Given the description of an element on the screen output the (x, y) to click on. 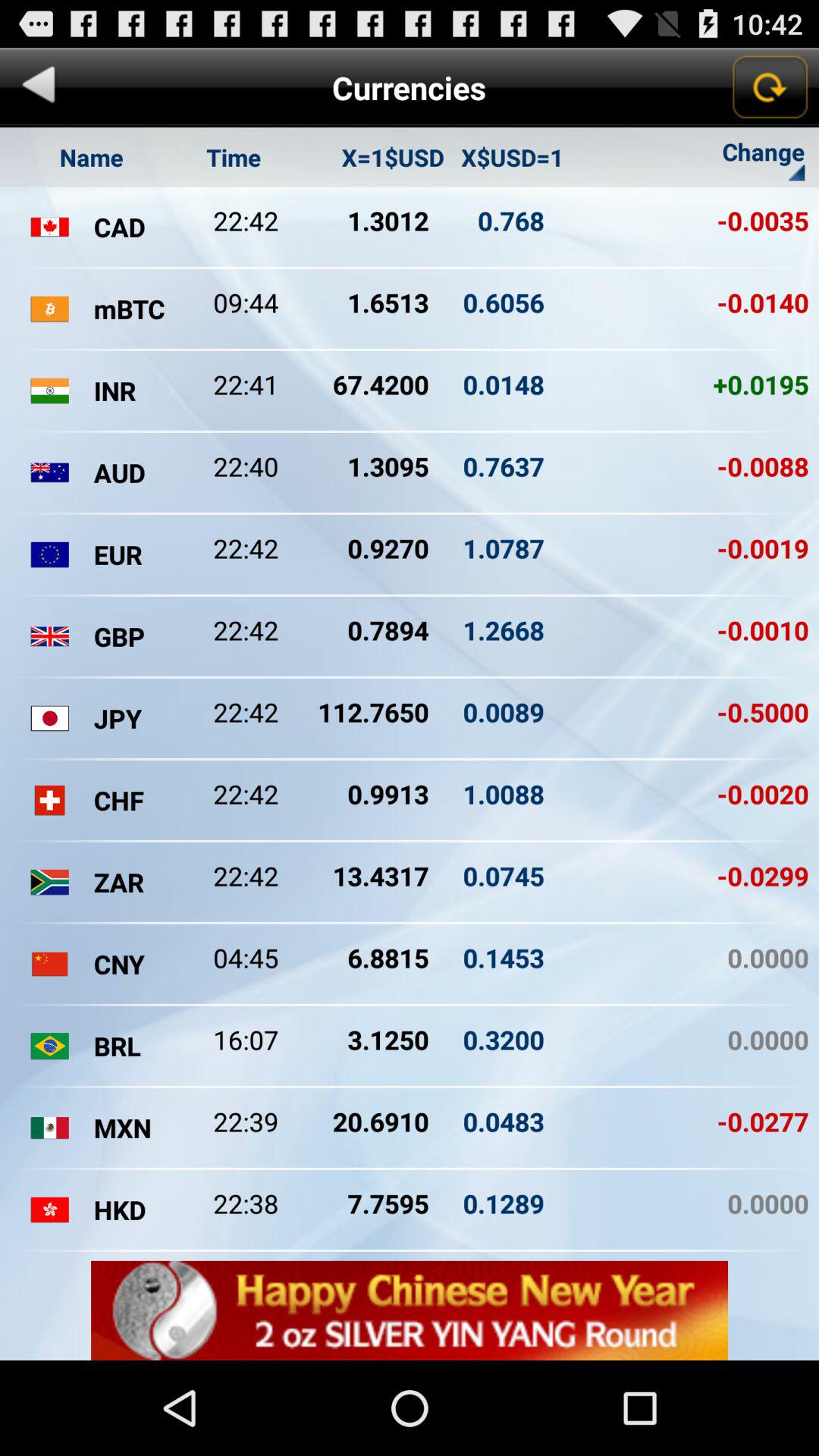
click advertisement (409, 1310)
